Given the description of an element on the screen output the (x, y) to click on. 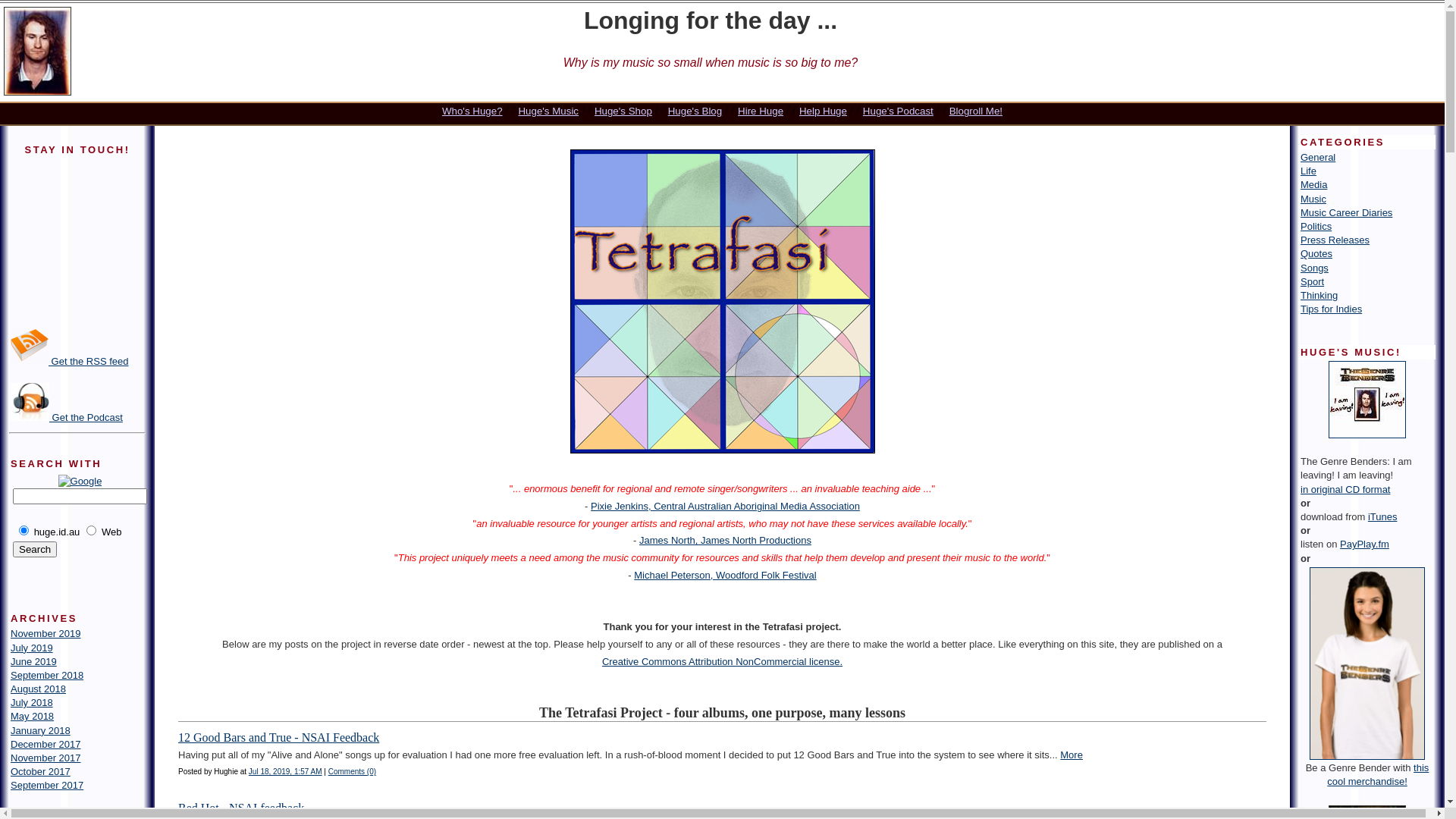
Blogroll Me! Element type: text (975, 110)
Music Career Diaries Element type: text (1346, 212)
Media Element type: text (1313, 184)
Huge's Podcast Element type: text (897, 110)
Comments (0) Element type: text (352, 771)
Get the Podcast Element type: text (66, 417)
PayPlay.fm Element type: text (1364, 543)
December 2017 Element type: text (45, 743)
Michael Peterson, Woodford Folk Festival Element type: text (724, 574)
July 2018 Element type: text (31, 702)
June 2019 Element type: text (33, 661)
November 2017 Element type: text (45, 757)
Red Hot - NSAI feedback Element type: text (241, 807)
May 2018 Element type: text (31, 715)
More Element type: text (1071, 754)
Huge's Music Element type: text (547, 110)
January 2018 Element type: text (40, 730)
this cool merchandise! Element type: text (1377, 774)
Longing for the day ... Element type: text (710, 20)
September 2017 Element type: text (46, 784)
September 2018 Element type: text (46, 674)
Hire Huge Element type: text (760, 110)
Who's Huge? Element type: text (472, 110)
Huge's Shop Element type: text (623, 110)
Jul 18, 2019, 1:57 AM Element type: text (285, 771)
Quotes Element type: text (1316, 253)
James North, James North Productions Element type: text (725, 540)
Search Element type: text (34, 549)
Thinking Element type: text (1318, 295)
October 2017 Element type: text (40, 771)
Sport Element type: text (1312, 281)
Tips for Indies Element type: text (1330, 308)
Advertisement Element type: hover (1396, 53)
Help Huge Element type: text (823, 110)
General Element type: text (1317, 157)
Songs Element type: text (1314, 267)
November 2019 Element type: text (45, 633)
Press Releases Element type: text (1334, 239)
Huge's Blog Element type: text (694, 110)
Get the RSS feed Element type: text (69, 361)
12 Good Bars and True - NSAI Feedback Element type: text (278, 737)
Music Element type: text (1313, 198)
Creative Commons Attribution NonCommercial license. Element type: text (722, 660)
Politics Element type: text (1315, 226)
July 2019 Element type: text (31, 646)
August 2018 Element type: text (37, 688)
Life Element type: text (1308, 170)
iTunes Element type: text (1382, 516)
in original CD format Element type: text (1345, 489)
